Given the description of an element on the screen output the (x, y) to click on. 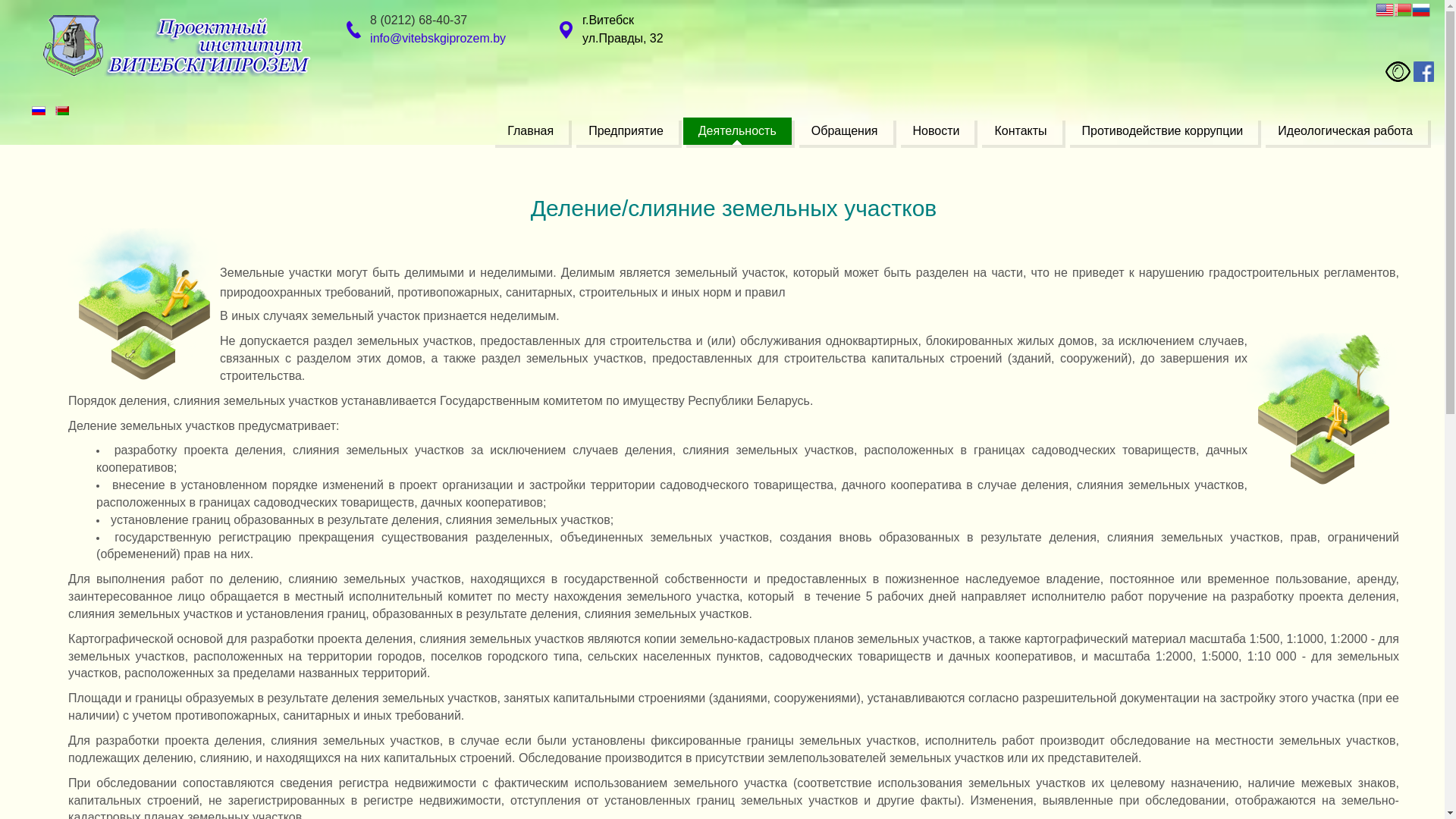
Belarusian (be-BY) Element type: hover (62, 110)
info@vitebskgiprozem.by Element type: text (437, 37)
Russian (Russia) Element type: hover (38, 110)
Facebook Element type: hover (1423, 71)
